Given the description of an element on the screen output the (x, y) to click on. 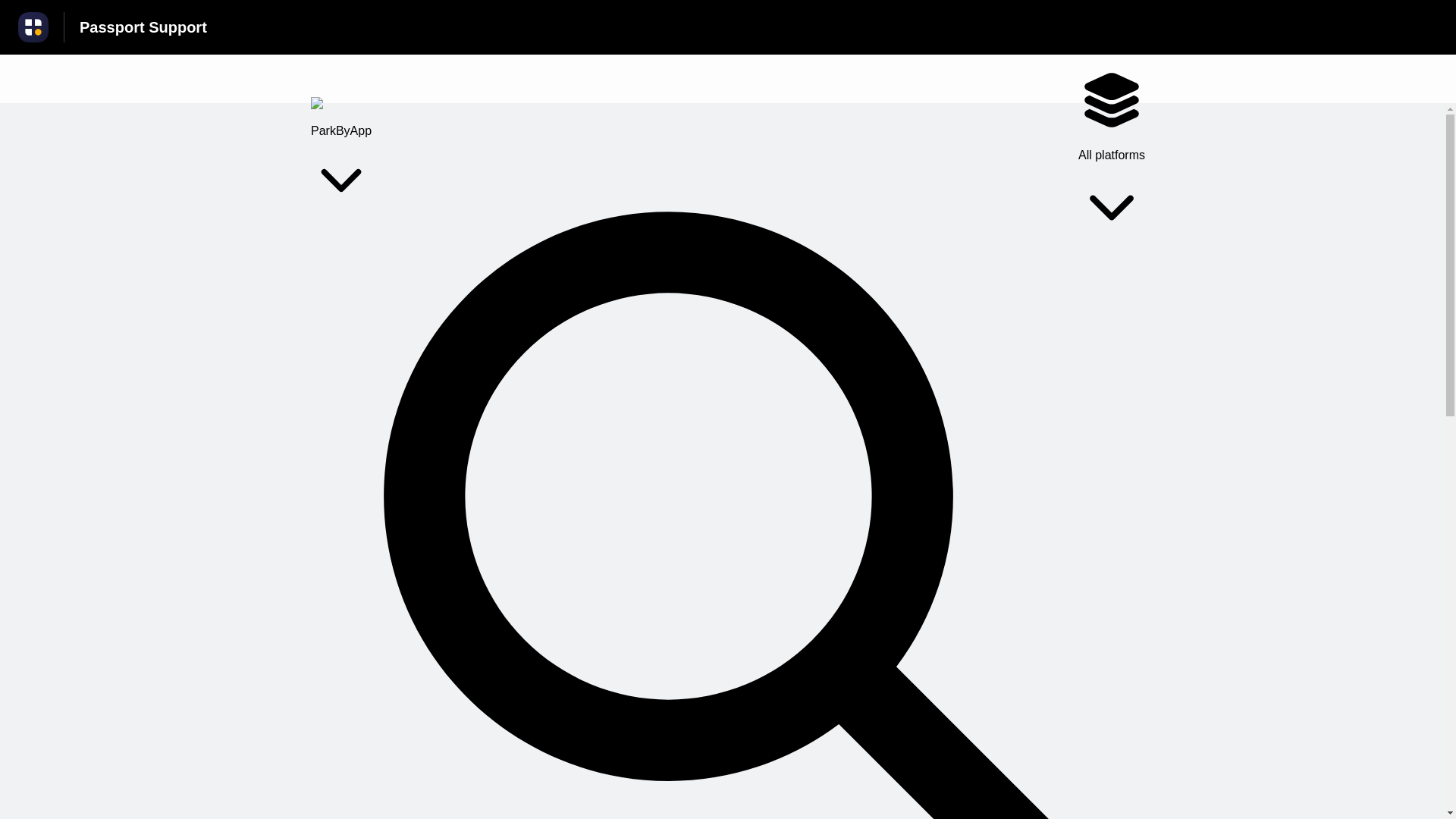
Passport Support (143, 27)
